Given the description of an element on the screen output the (x, y) to click on. 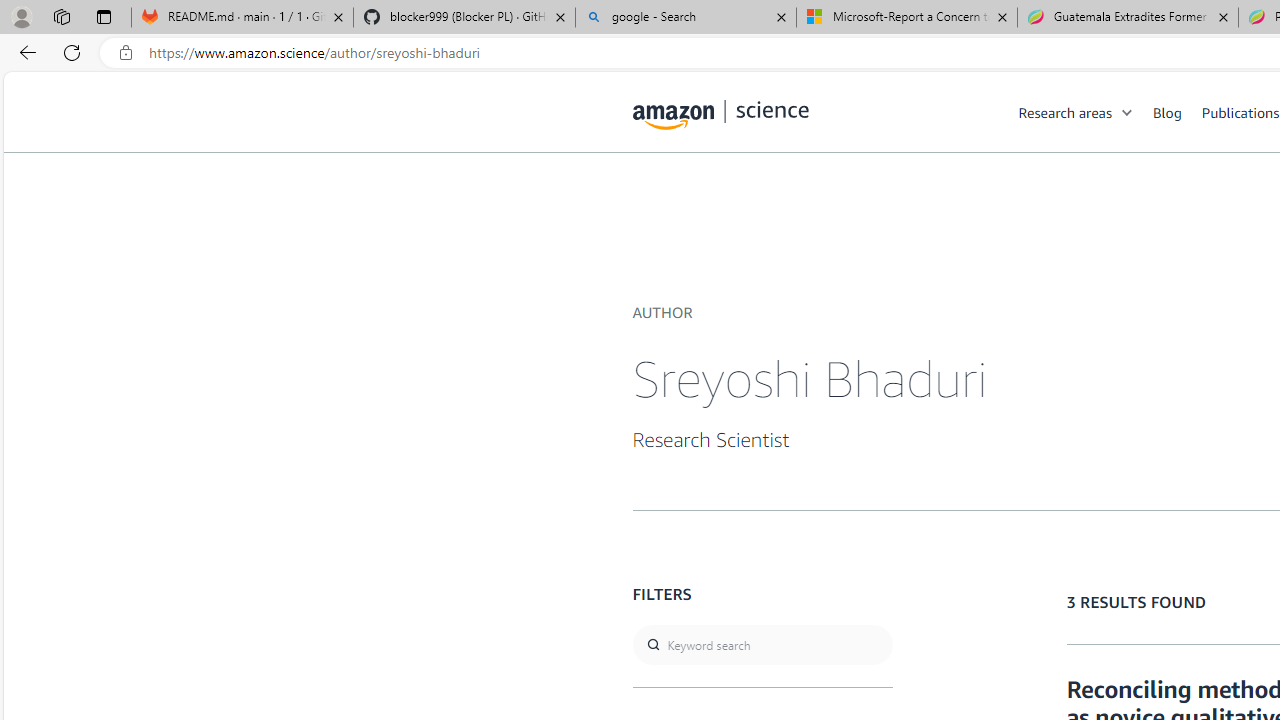
Research areas (1065, 111)
Open Sub Navigation (1128, 111)
Class: chevron (1128, 116)
amazon-science-logo.svg (721, 115)
Publications (1240, 111)
